Given the description of an element on the screen output the (x, y) to click on. 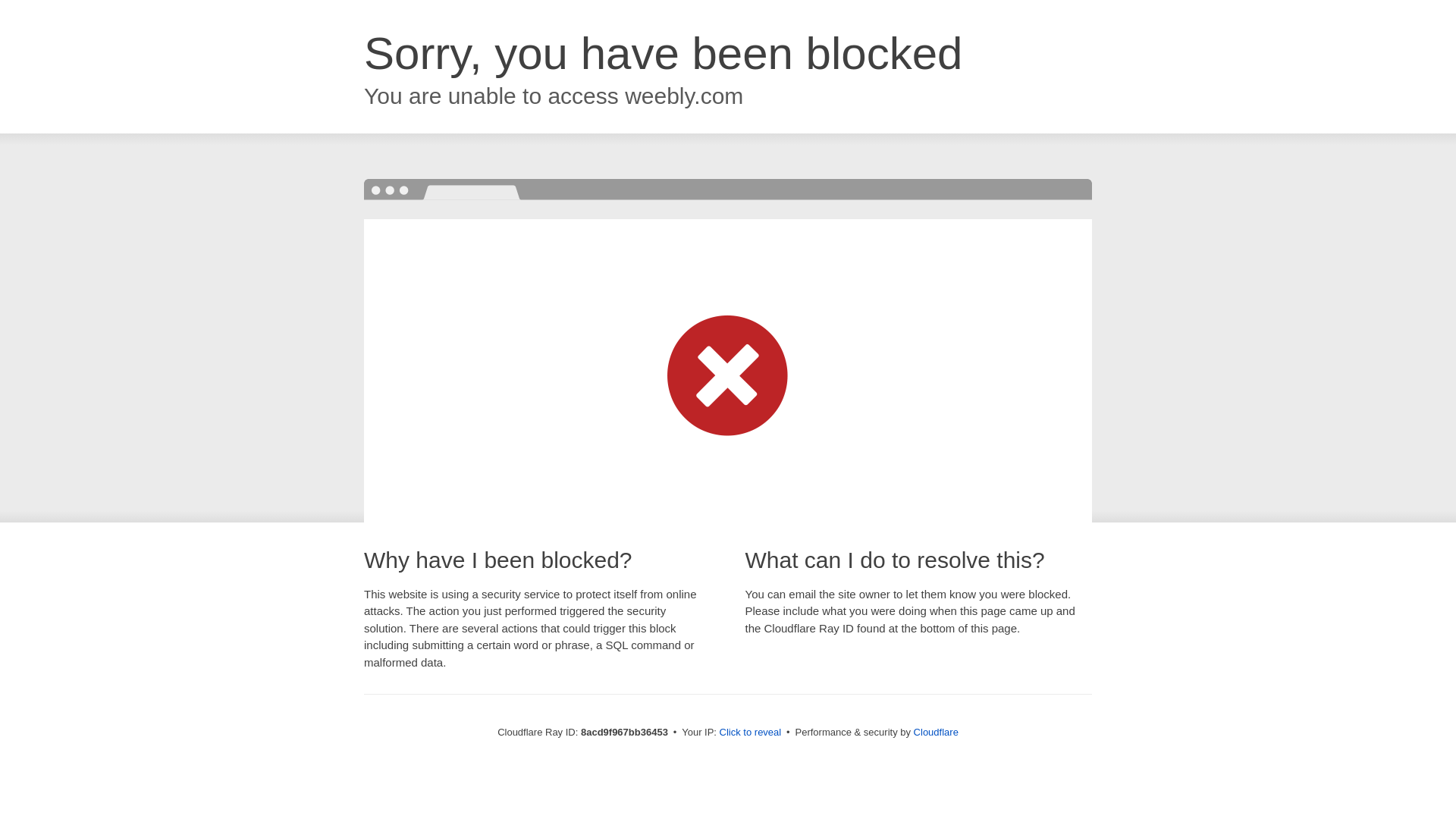
Click to reveal (750, 732)
Cloudflare (936, 731)
